Given the description of an element on the screen output the (x, y) to click on. 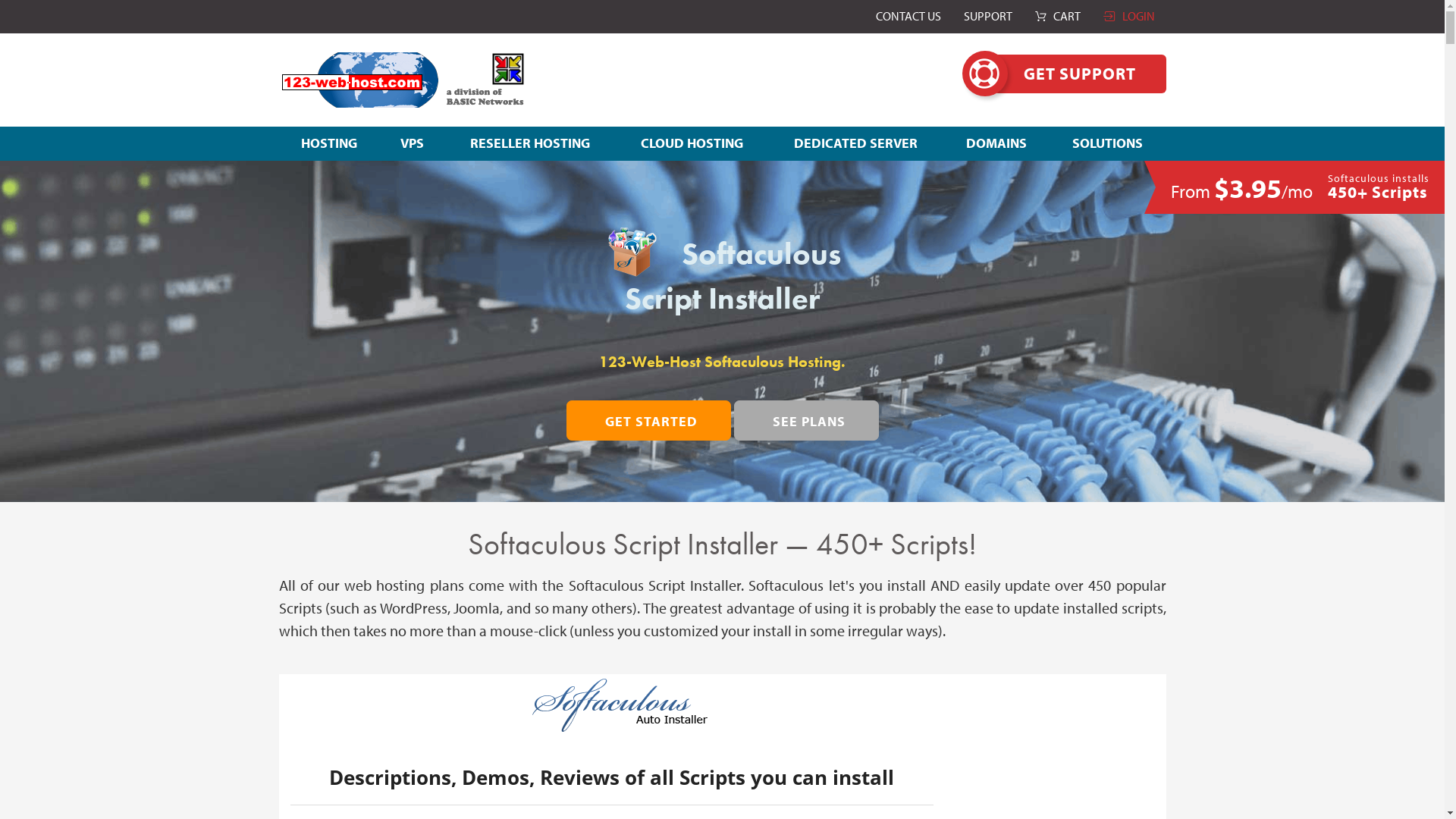
HOSTING Element type: text (328, 142)
GET STARTED Element type: text (647, 420)
SOLUTIONS Element type: text (1107, 142)
SEE PLANS Element type: text (806, 420)
RESELLER HOSTING Element type: text (529, 142)
CLOUD HOSTING Element type: text (691, 142)
VPS Element type: text (412, 142)
DOMAINS Element type: text (996, 142)
DEDICATED SERVER Element type: text (855, 142)
GET SUPPORT Element type: text (1079, 73)
